Given the description of an element on the screen output the (x, y) to click on. 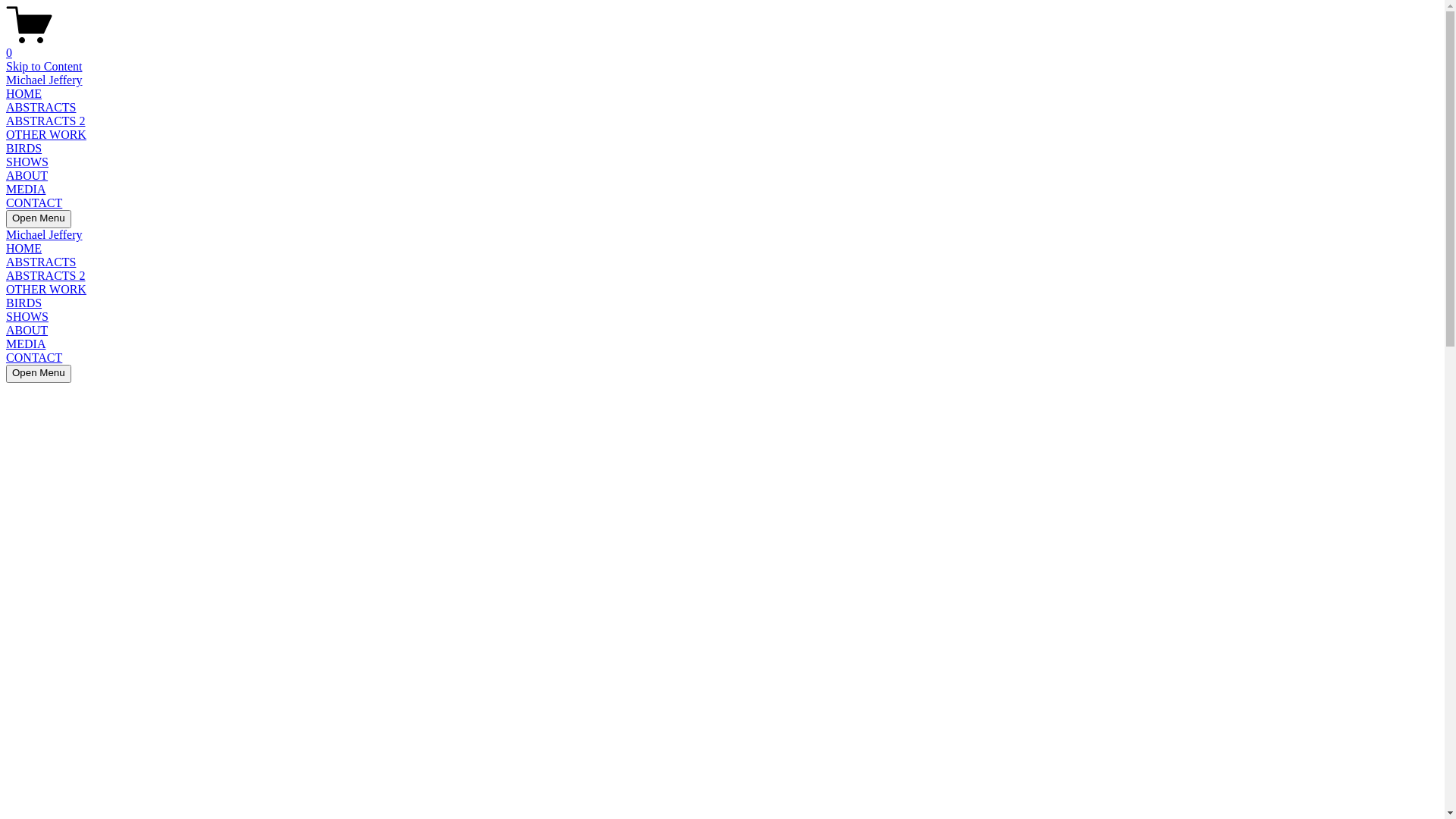
CONTACT Element type: text (34, 202)
0 Element type: text (722, 45)
Skip to Content Element type: text (43, 65)
Open Menu Element type: text (38, 219)
SHOWS Element type: text (27, 161)
Michael Jeffery Element type: text (44, 234)
SHOWS Element type: text (27, 316)
OTHER WORK Element type: text (46, 134)
ABSTRACTS 2 Element type: text (45, 275)
ABSTRACTS 2 Element type: text (45, 120)
CONTACT Element type: text (34, 357)
OTHER WORK Element type: text (46, 288)
ABSTRACTS Element type: text (40, 106)
HOME Element type: text (23, 247)
HOME Element type: text (23, 93)
MEDIA Element type: text (25, 343)
ABOUT Element type: text (26, 329)
BIRDS Element type: text (23, 147)
Open Menu Element type: text (38, 373)
ABSTRACTS Element type: text (40, 261)
MEDIA Element type: text (25, 188)
BIRDS Element type: text (23, 302)
ABOUT Element type: text (26, 175)
Michael Jeffery Element type: text (44, 79)
